Given the description of an element on the screen output the (x, y) to click on. 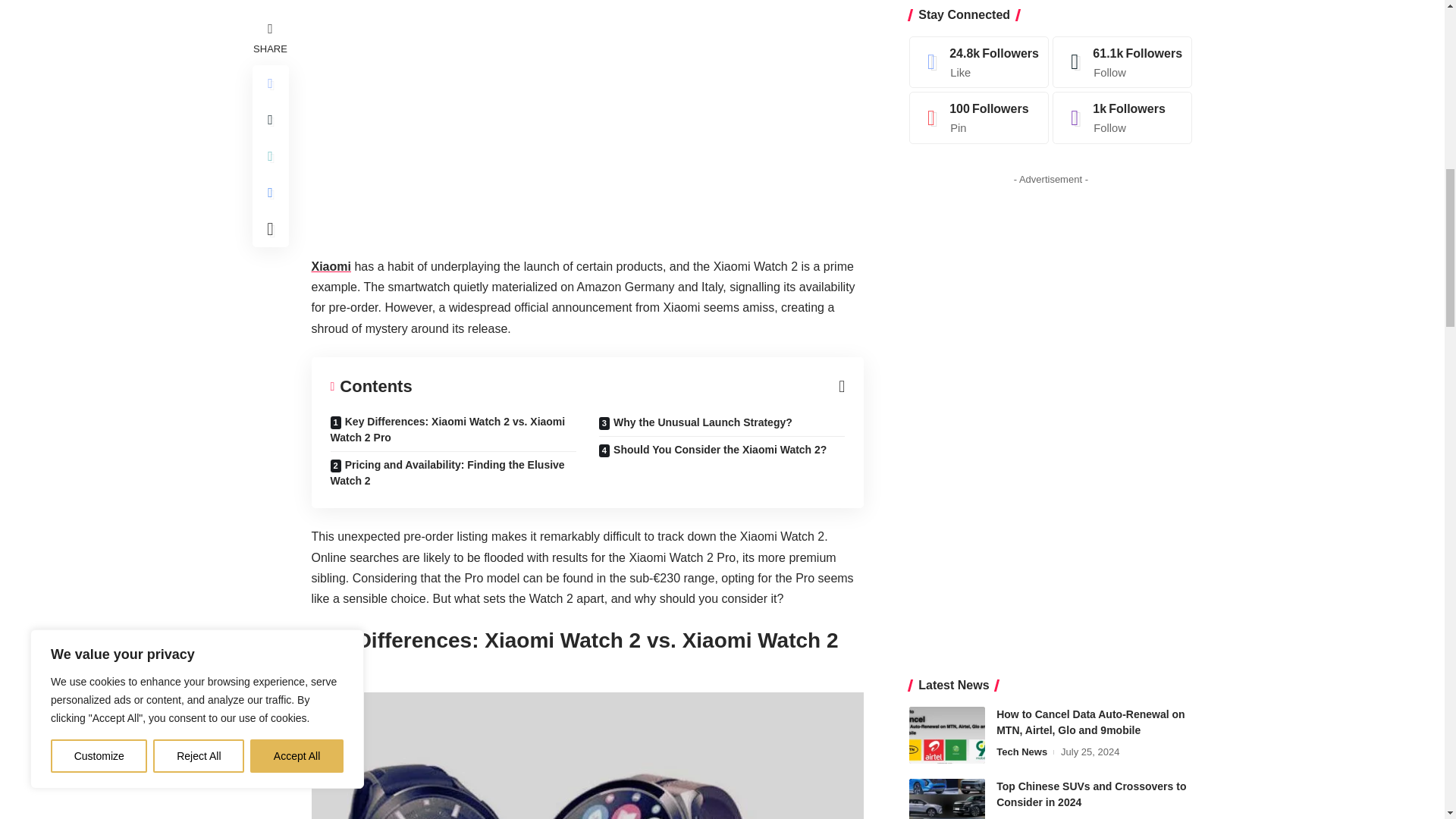
Advertisement (1050, 117)
Advertisement (587, 123)
